Given the description of an element on the screen output the (x, y) to click on. 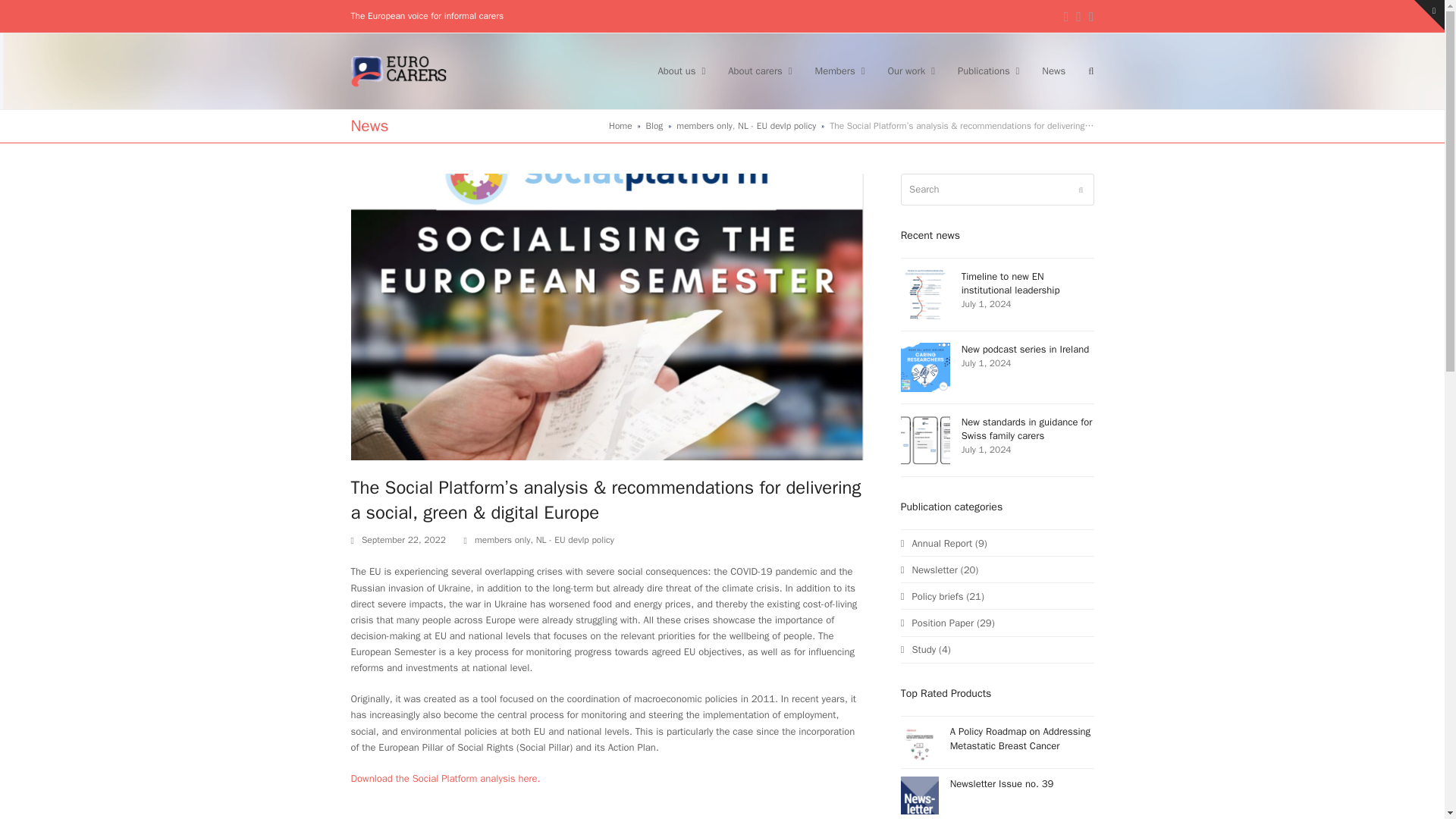
Members (839, 71)
About us (681, 71)
Our work (911, 71)
About carers (759, 71)
